Given the description of an element on the screen output the (x, y) to click on. 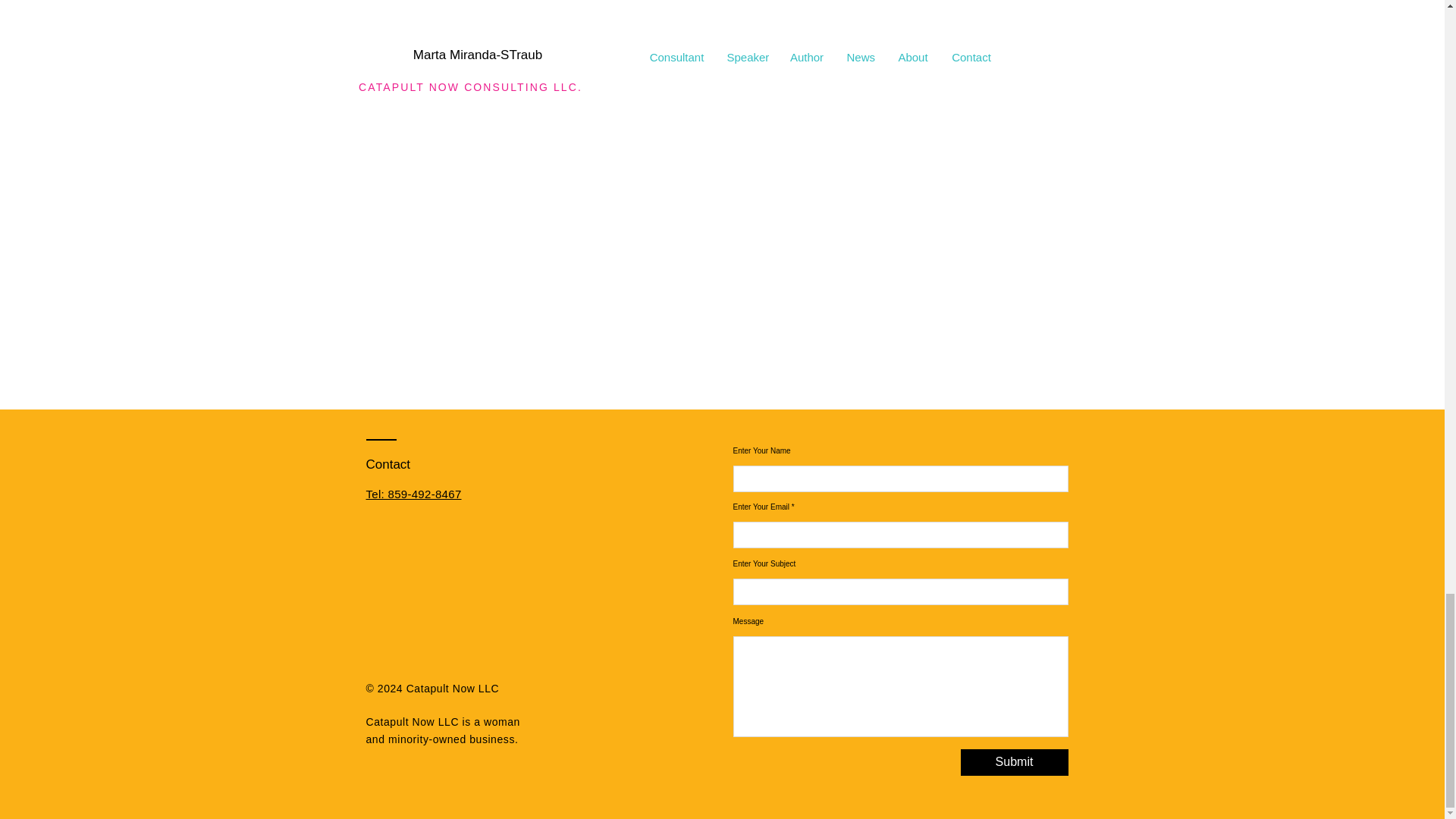
Submit (1013, 762)
Tel: 859-492-8467 (413, 493)
